Given the description of an element on the screen output the (x, y) to click on. 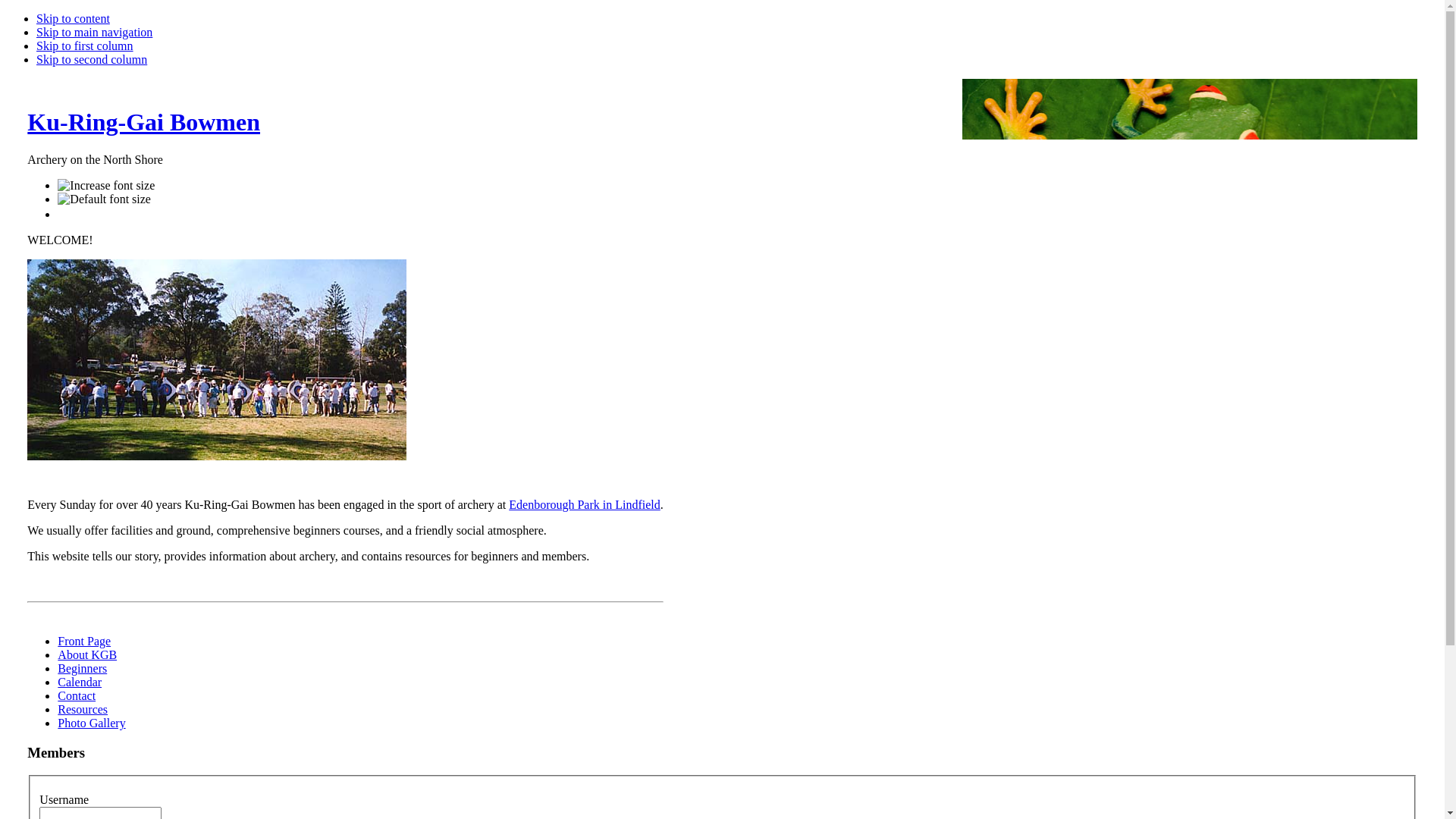
Skip to second column Element type: text (91, 59)
Contact Element type: text (76, 695)
Edenborough Park in Lindfield Element type: text (584, 504)
About KGB Element type: text (86, 654)
Increase font size Element type: hover (105, 185)
Skip to content Element type: text (72, 18)
Calendar Element type: text (79, 681)
Decrease font size Element type: hover (63, 212)
Skip to main navigation Element type: text (94, 31)
Resources Element type: text (82, 708)
Photo Gallery Element type: text (91, 722)
Skip to first column Element type: text (84, 45)
Ku-Ring-Gai Bowmen Element type: text (143, 121)
Default font size Element type: hover (103, 199)
Front Page Element type: text (83, 640)
Beginners Element type: text (81, 668)
